Given the description of an element on the screen output the (x, y) to click on. 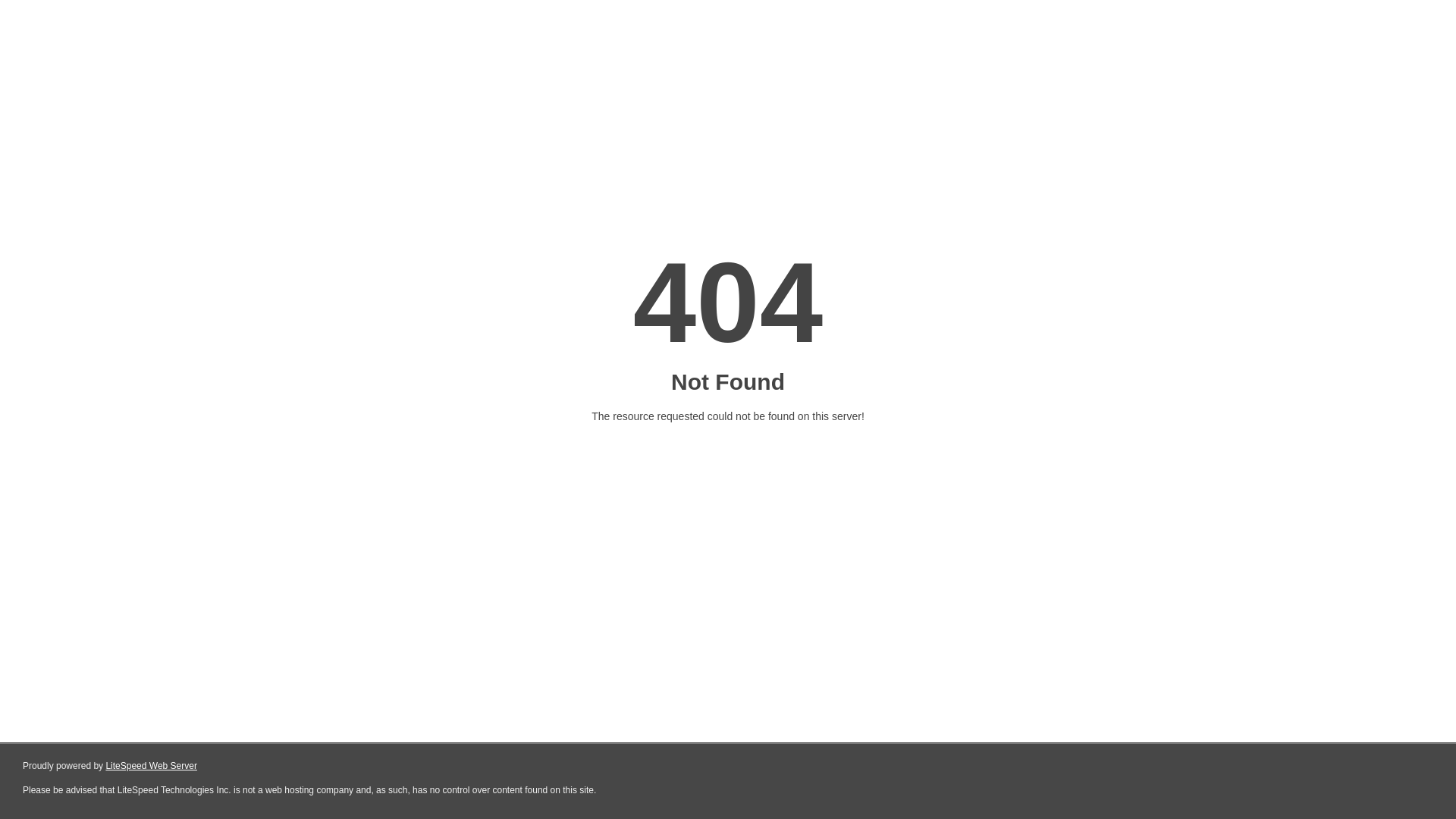
LiteSpeed Web Server Element type: text (151, 765)
